Given the description of an element on the screen output the (x, y) to click on. 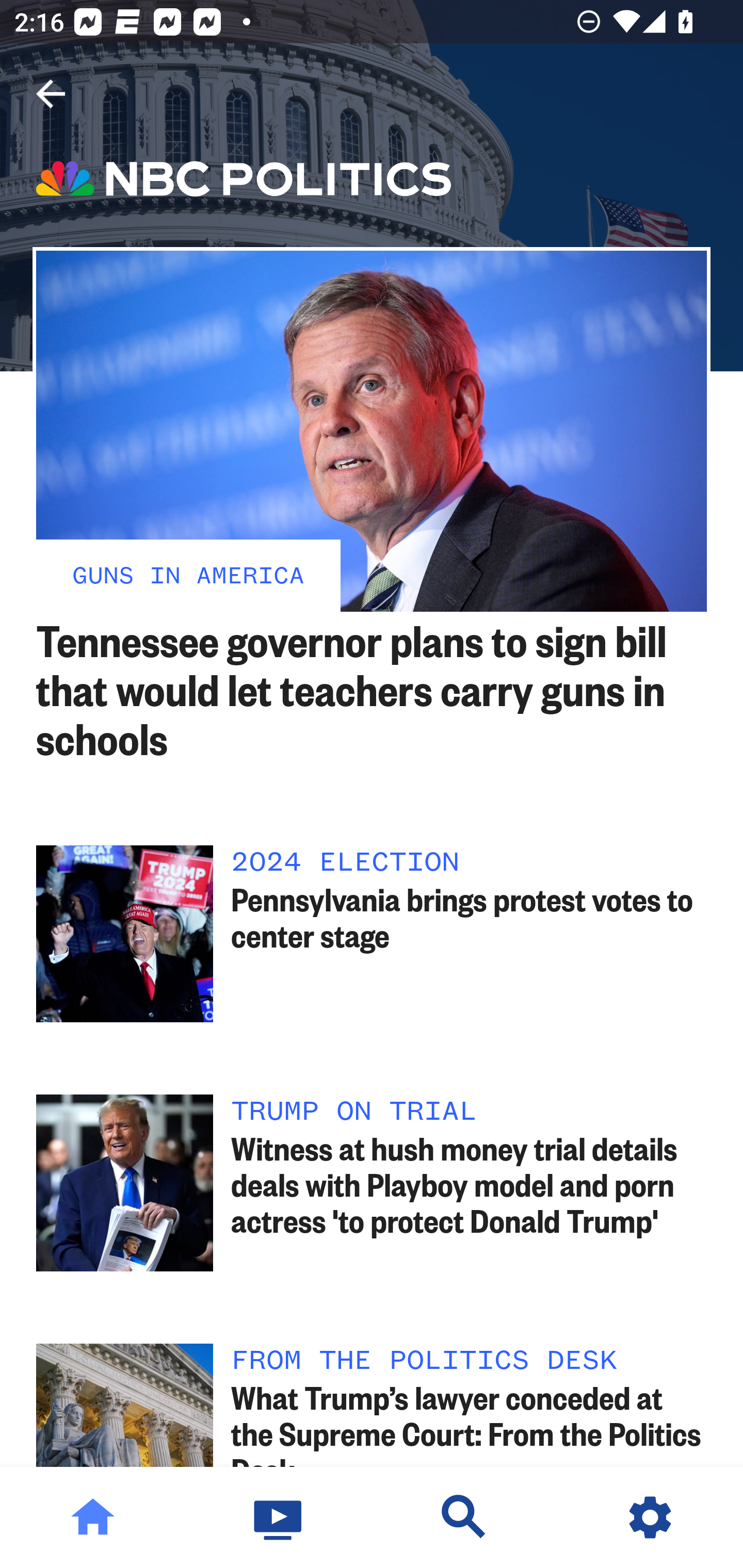
Navigate up (50, 93)
Watch (278, 1517)
Discover (464, 1517)
Settings (650, 1517)
